Given the description of an element on the screen output the (x, y) to click on. 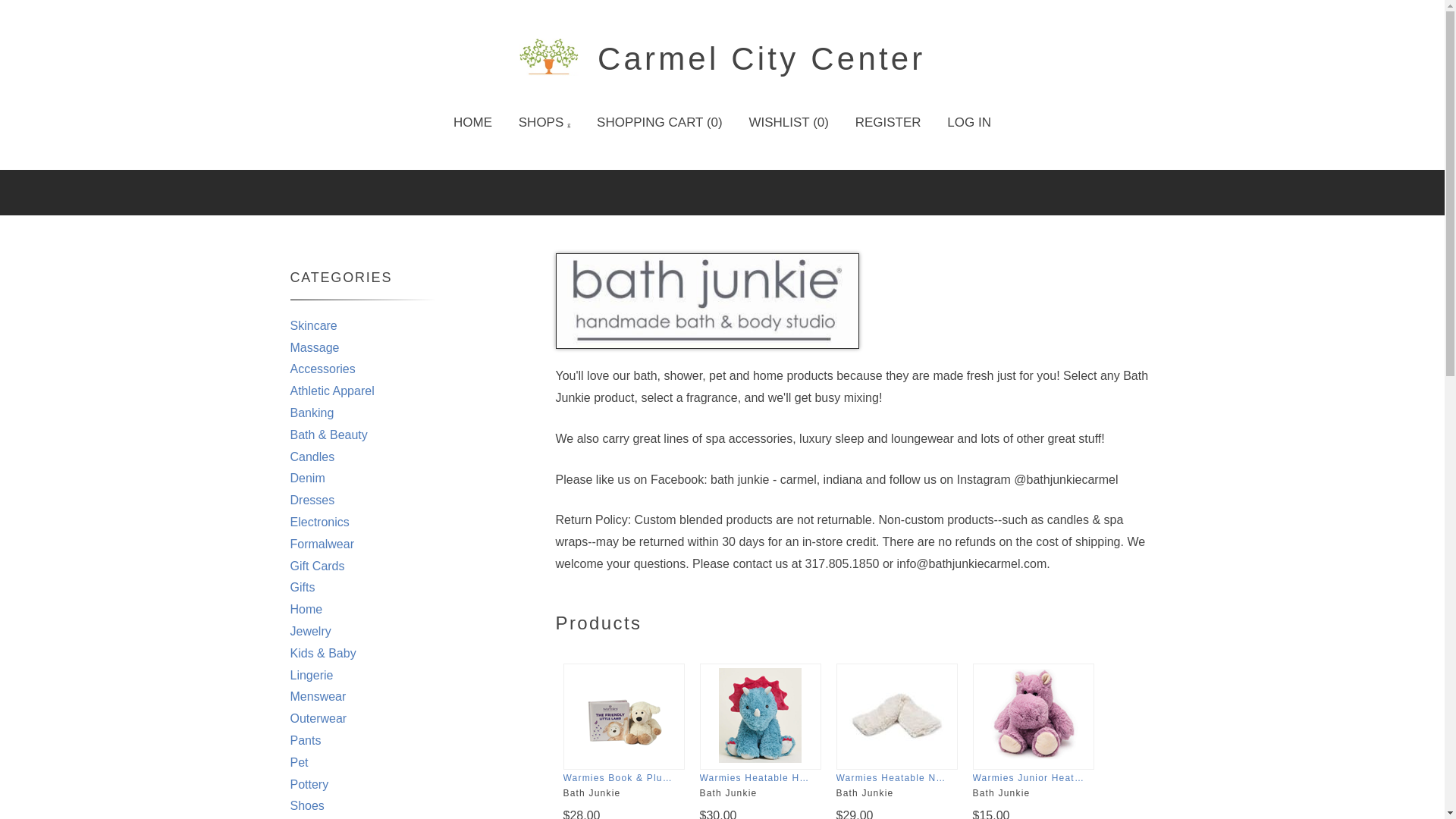
Gift Cards (316, 565)
Jewelry (309, 631)
Dresses (311, 499)
Athletic Apparel (331, 390)
Formalwear (321, 543)
Show details for Warmies Heatable Huggable Pets (759, 714)
Skincare (312, 325)
Show details for Warmies Junior Heatable Huggable Pets (1032, 713)
Show details for Warmies Heatable Neck Wrap (895, 715)
REGISTER (888, 123)
